Given the description of an element on the screen output the (x, y) to click on. 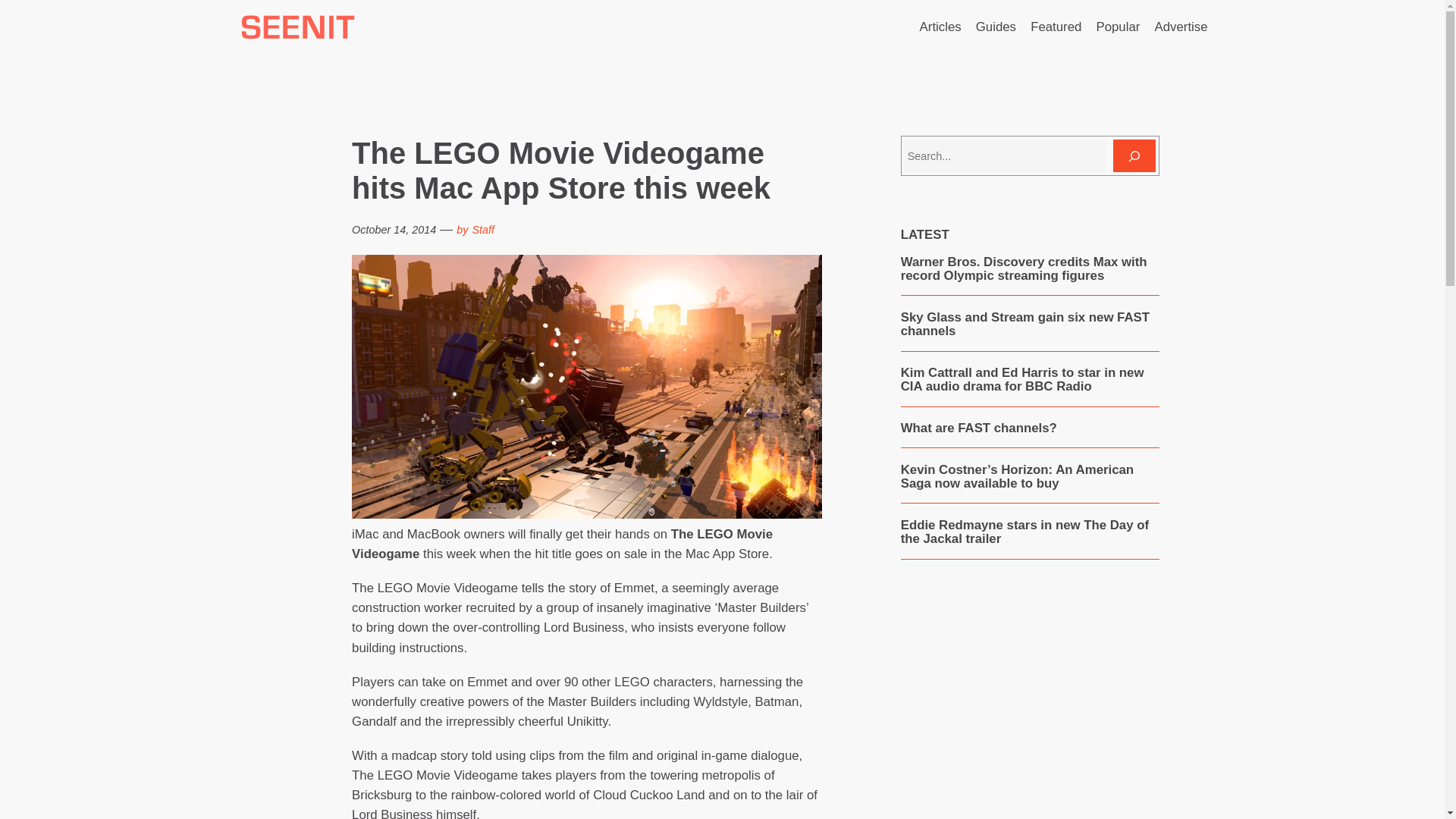
Guides (995, 26)
Featured (1055, 26)
Eddie Redmayne stars in new The Day of the Jackal trailer (1029, 532)
Popular (1118, 26)
What are FAST channels? (979, 427)
Articles (940, 26)
Sky Glass and Stream gain six new FAST channels  (1029, 325)
Advertisement (1028, 705)
Staff (483, 229)
Advertise (1181, 26)
